Given the description of an element on the screen output the (x, y) to click on. 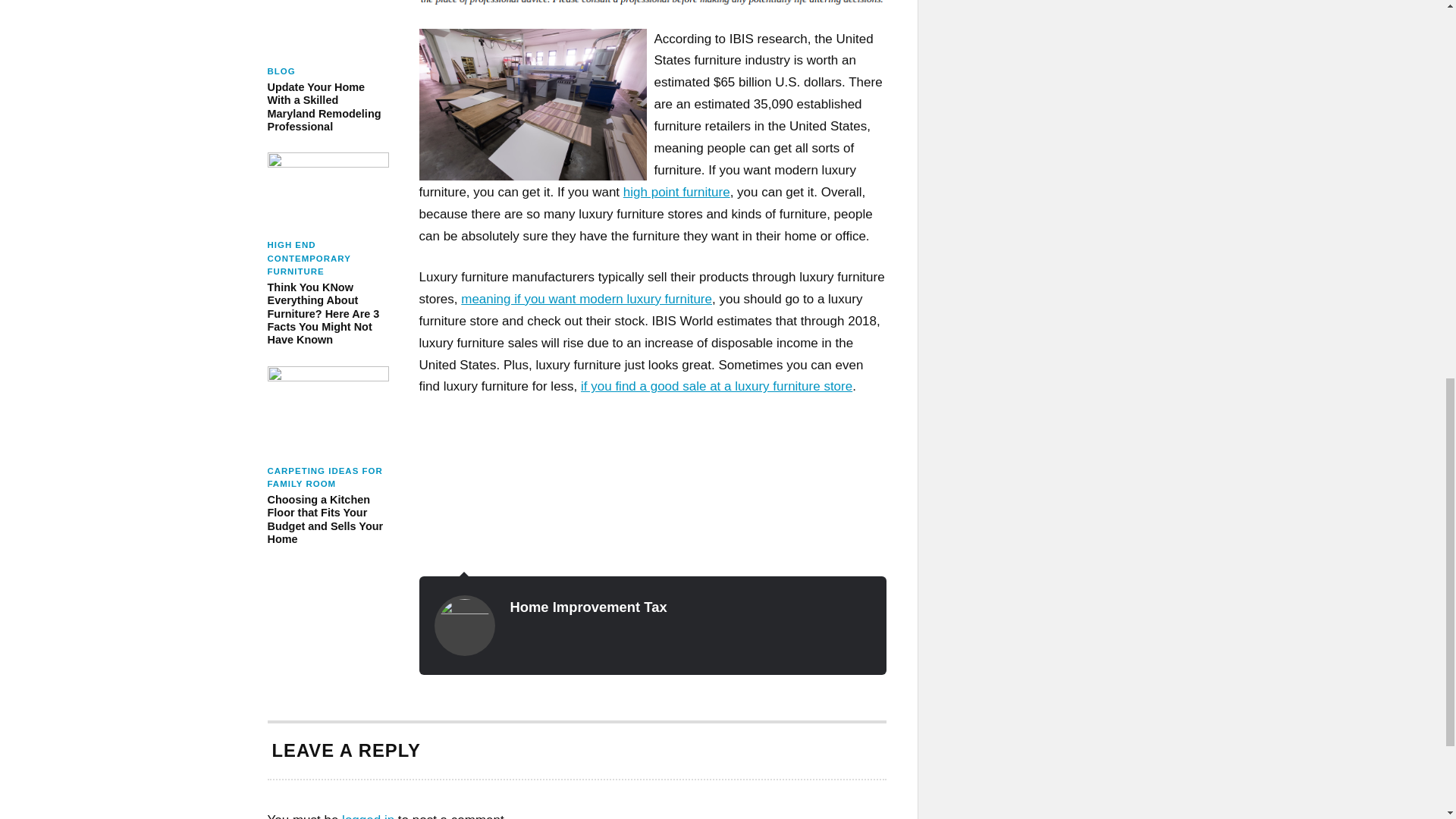
Home Improvement Tax (587, 606)
Great stuff (586, 298)
logged in (368, 816)
if you find a good sale at a luxury furniture store (715, 386)
high point furniture (676, 192)
More for you (715, 386)
meaning if you want modern luxury furniture (586, 298)
